Given the description of an element on the screen output the (x, y) to click on. 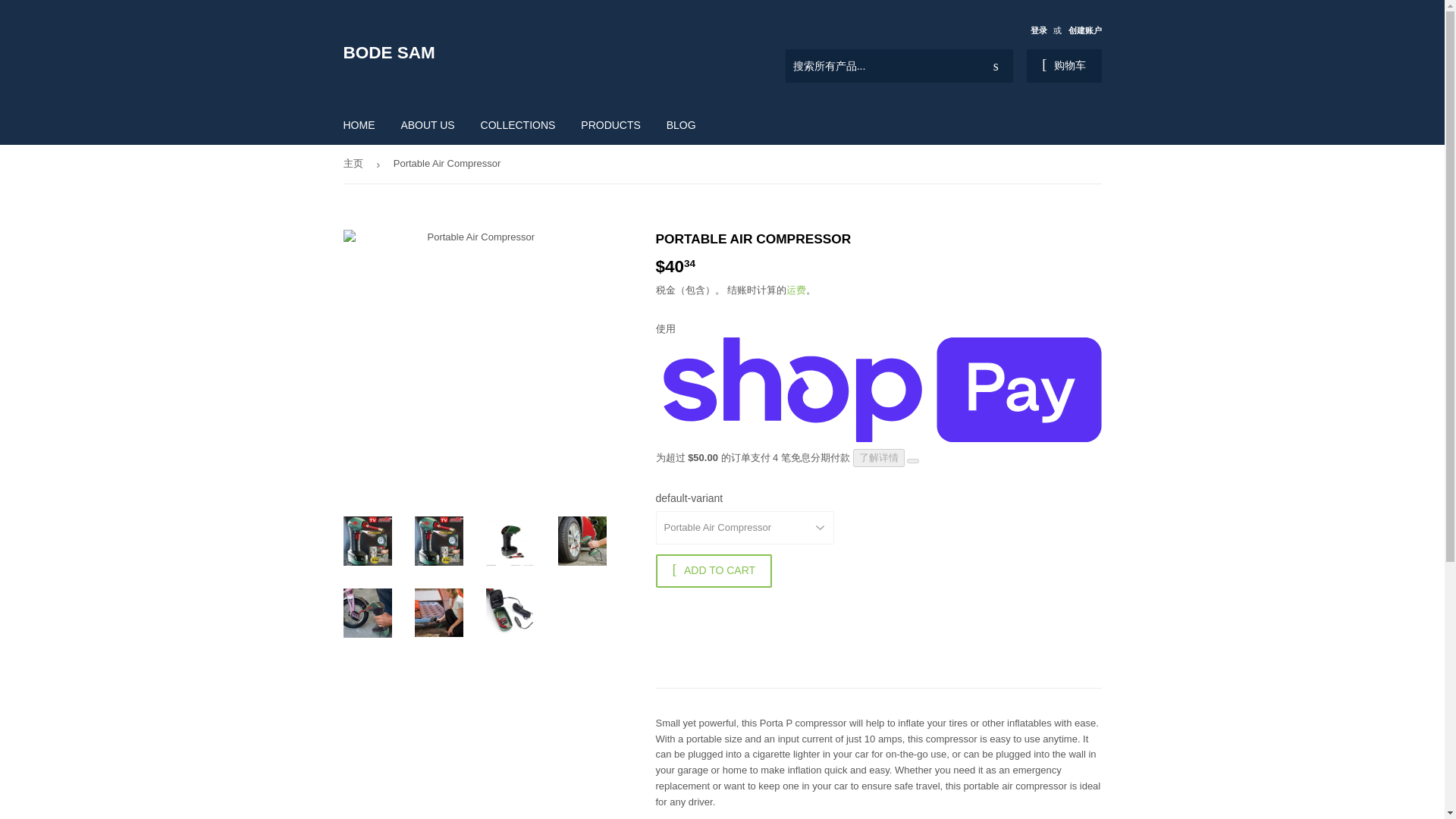
ADD TO CART (713, 571)
BLOG (681, 124)
COLLECTIONS (517, 124)
ABOUT US (426, 124)
PRODUCTS (610, 124)
HOME (359, 124)
BODE SAM (532, 52)
